Given the description of an element on the screen output the (x, y) to click on. 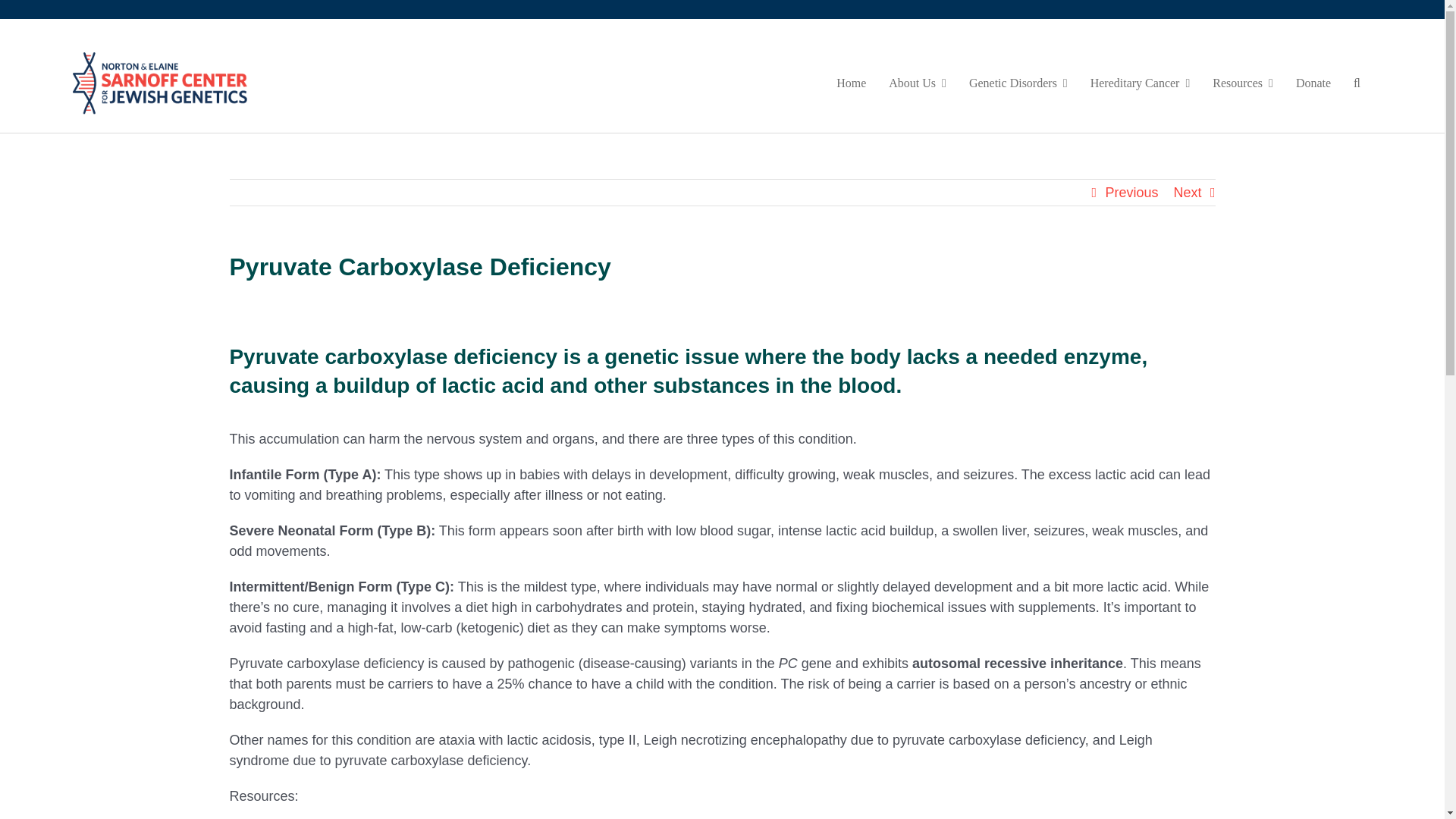
Genetic Disorders (1017, 83)
Next (1187, 192)
Previous (1131, 192)
Hereditary Cancer (1140, 83)
